Given the description of an element on the screen output the (x, y) to click on. 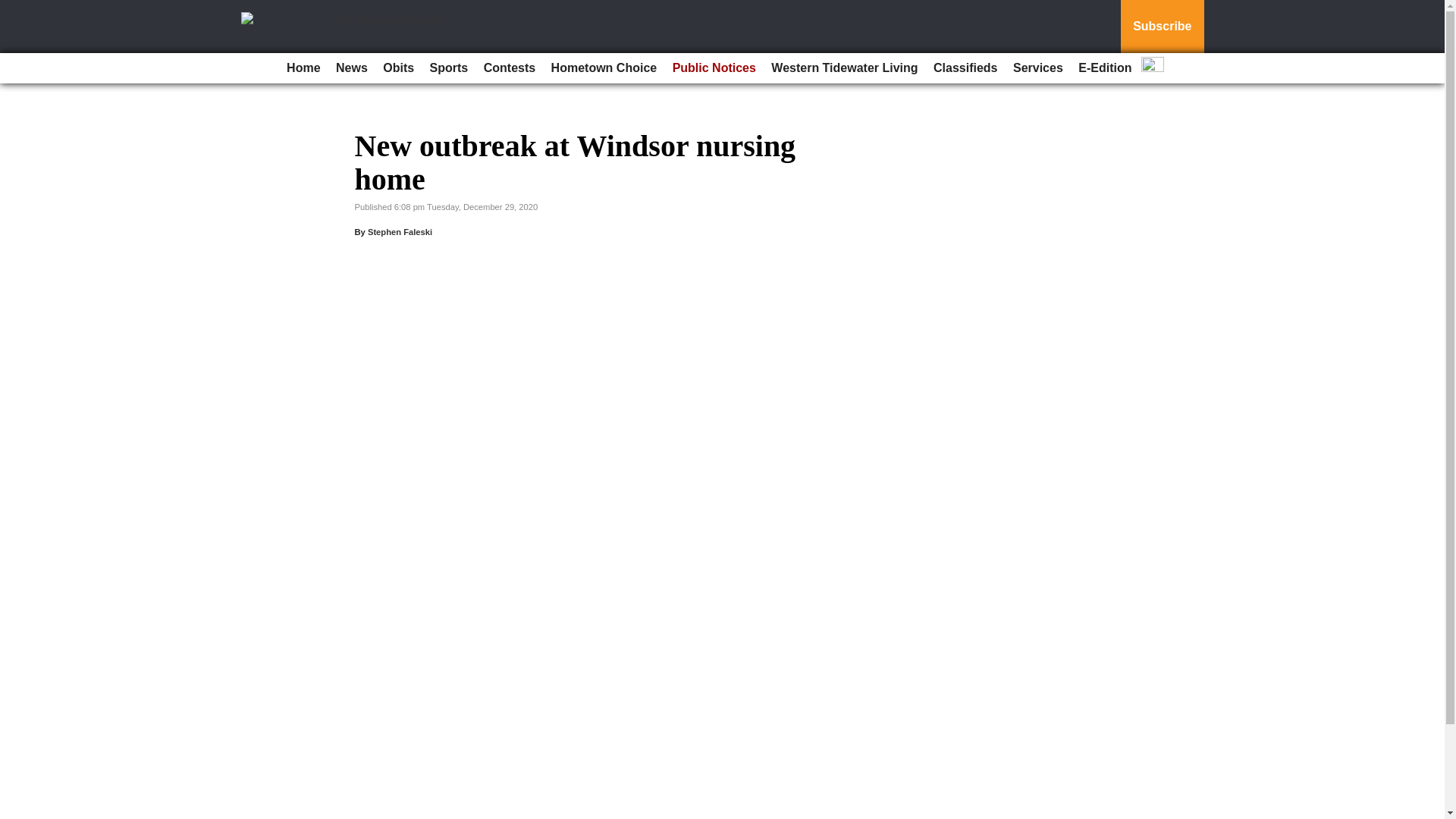
Contests (509, 68)
Western Tidewater Living (844, 68)
Obits (398, 68)
Services (1037, 68)
Go (13, 9)
E-Edition (1104, 68)
Hometown Choice (603, 68)
Sports (448, 68)
Stephen Faleski (400, 231)
Subscribe (1162, 26)
